Given the description of an element on the screen output the (x, y) to click on. 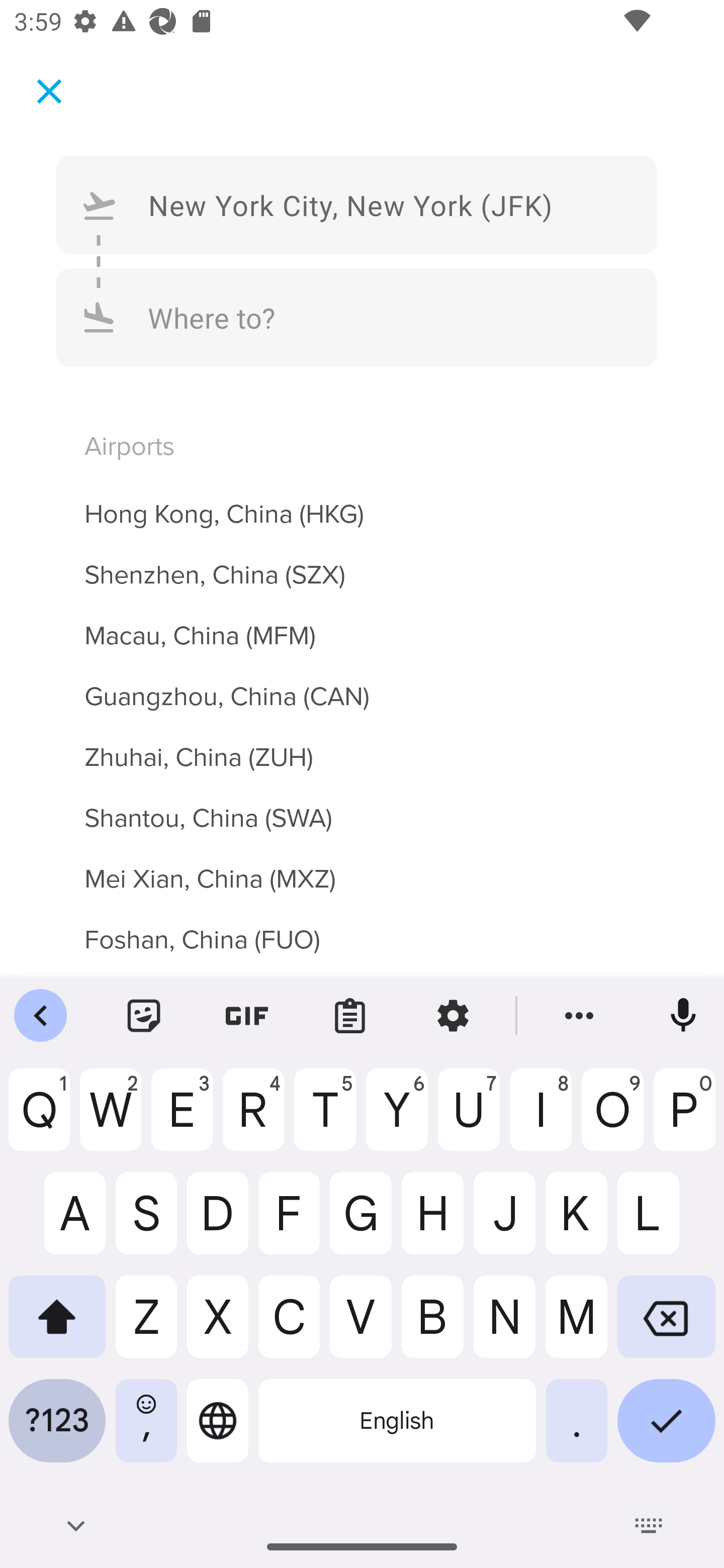
Cancel (49, 90)
New York City, New York (JFK) (356, 204)
Where to? (356, 317)
Hong Kong, China (HKG) (361, 502)
Shenzhen, China (SZX) (361, 563)
Macau, China (MFM) (361, 624)
Guangzhou, China (CAN) (361, 685)
Zhuhai, China (ZUH) (361, 745)
Shantou, China (SWA) (361, 806)
Mei Xian, China (MXZ) (361, 867)
Foshan, China (FUO) (361, 937)
